Given the description of an element on the screen output the (x, y) to click on. 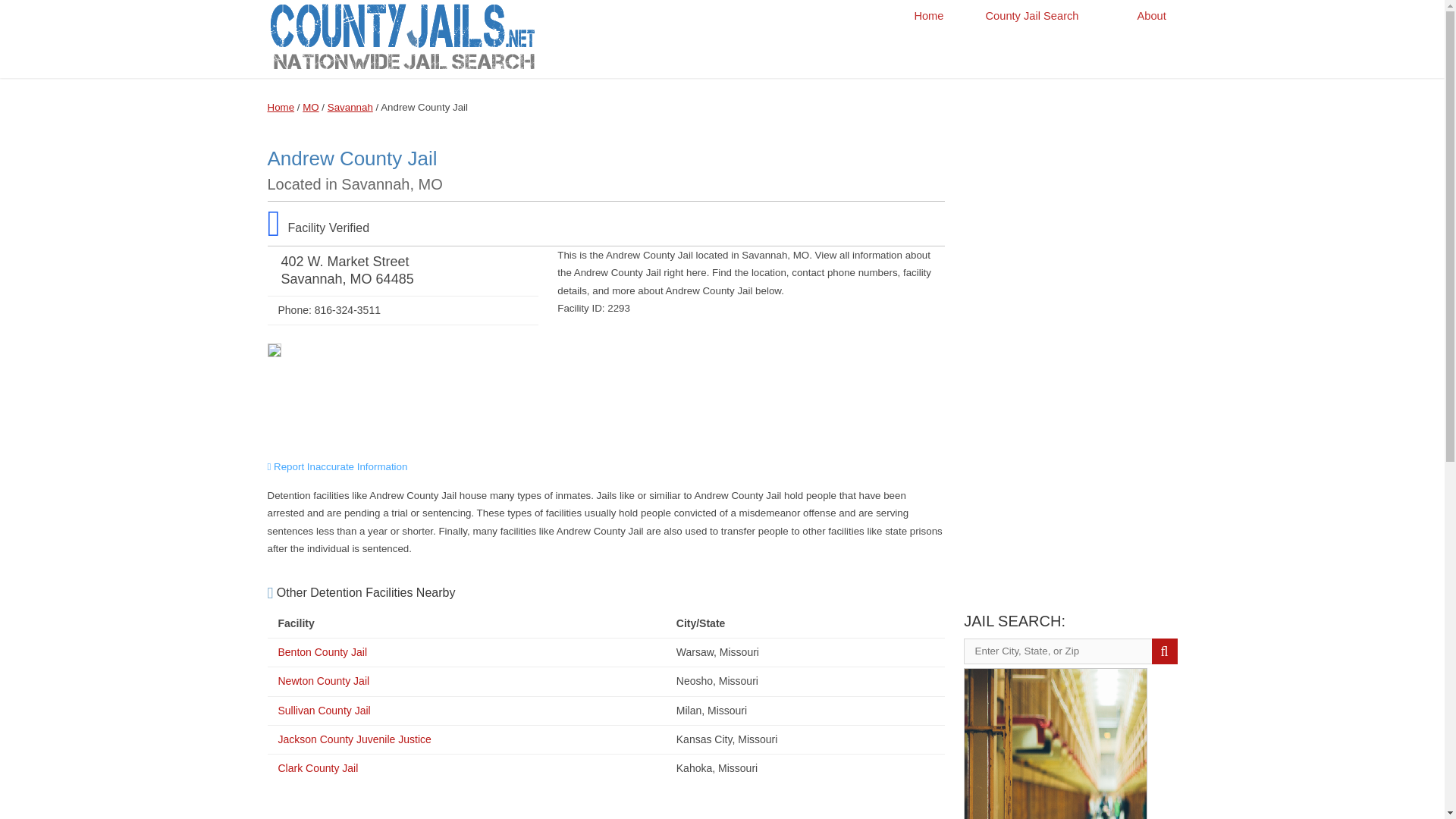
Home (928, 15)
county jail (402, 69)
County Jail Search (1040, 15)
Advertisement (605, 408)
